Given the description of an element on the screen output the (x, y) to click on. 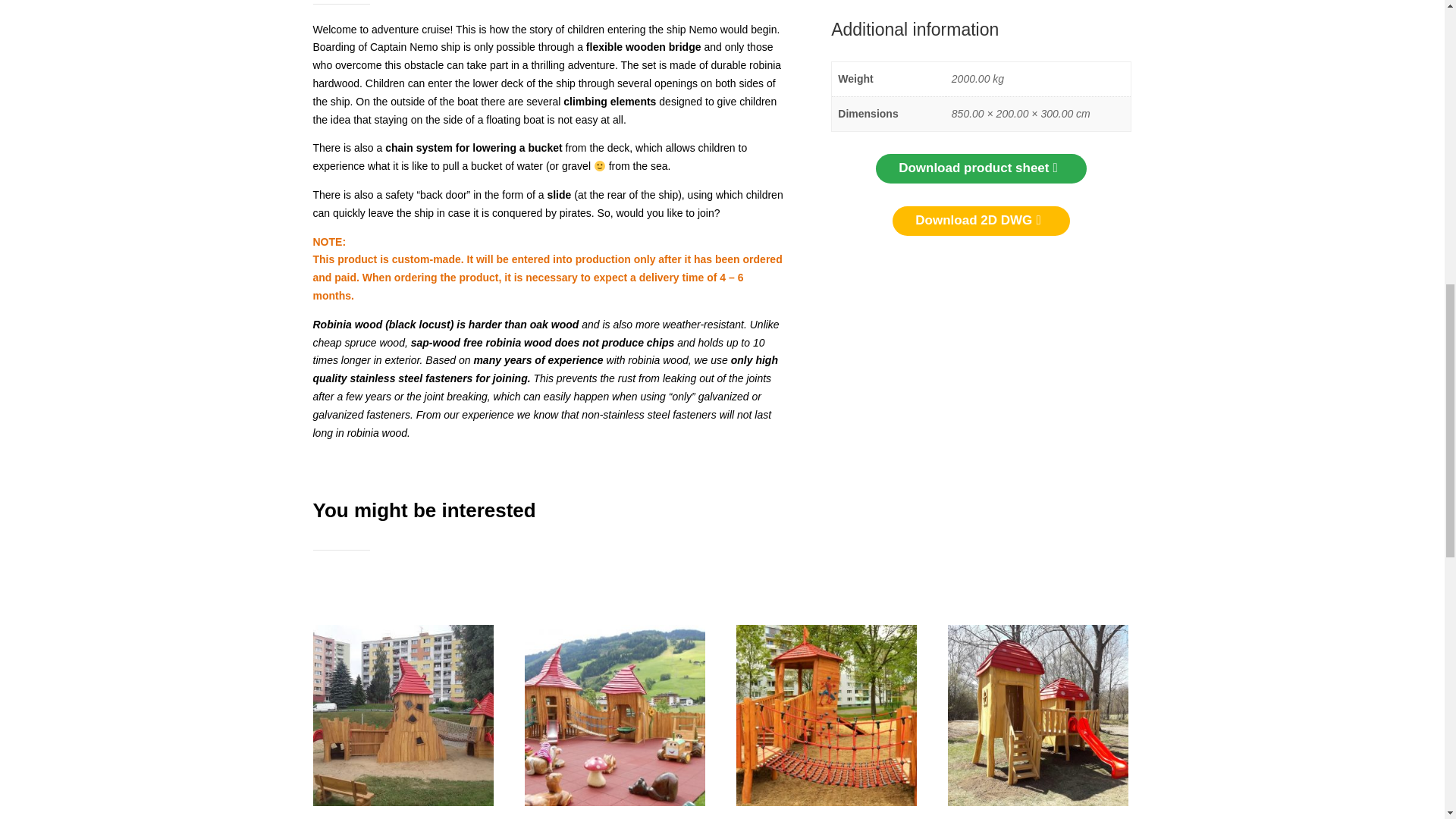
Download product sheet (981, 168)
Chip and Dale (1037, 721)
Spiderman (826, 721)
Download 2D DWG (981, 220)
Xperiamus (403, 721)
Dwarfs (614, 721)
